Given the description of an element on the screen output the (x, y) to click on. 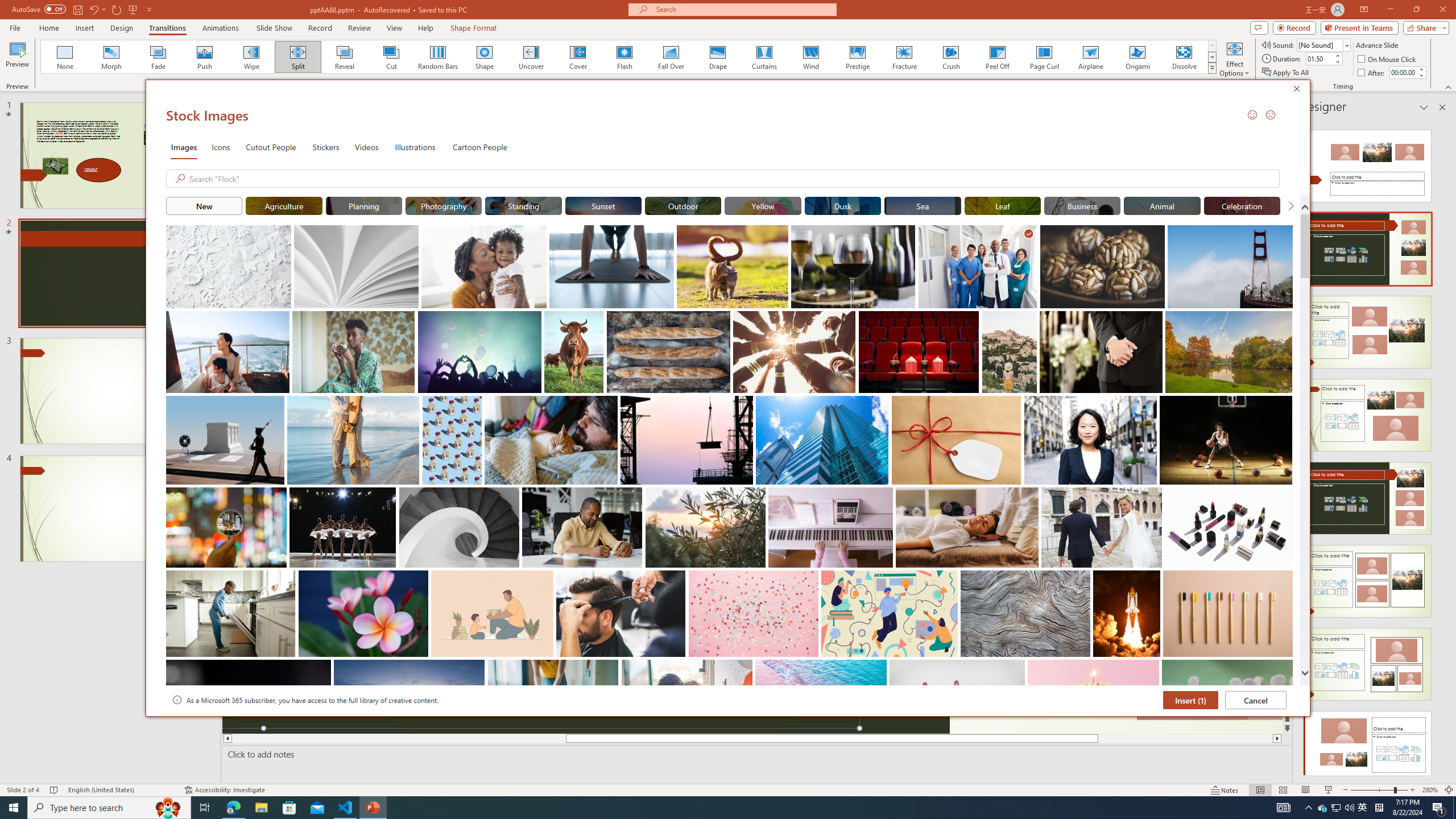
Restore Down (1416, 9)
"Celebration" Stock Images. (1241, 205)
Push (205, 56)
After (1372, 72)
Insert (1) (1190, 700)
Microsoft search (1322, 807)
Home (742, 9)
